Given the description of an element on the screen output the (x, y) to click on. 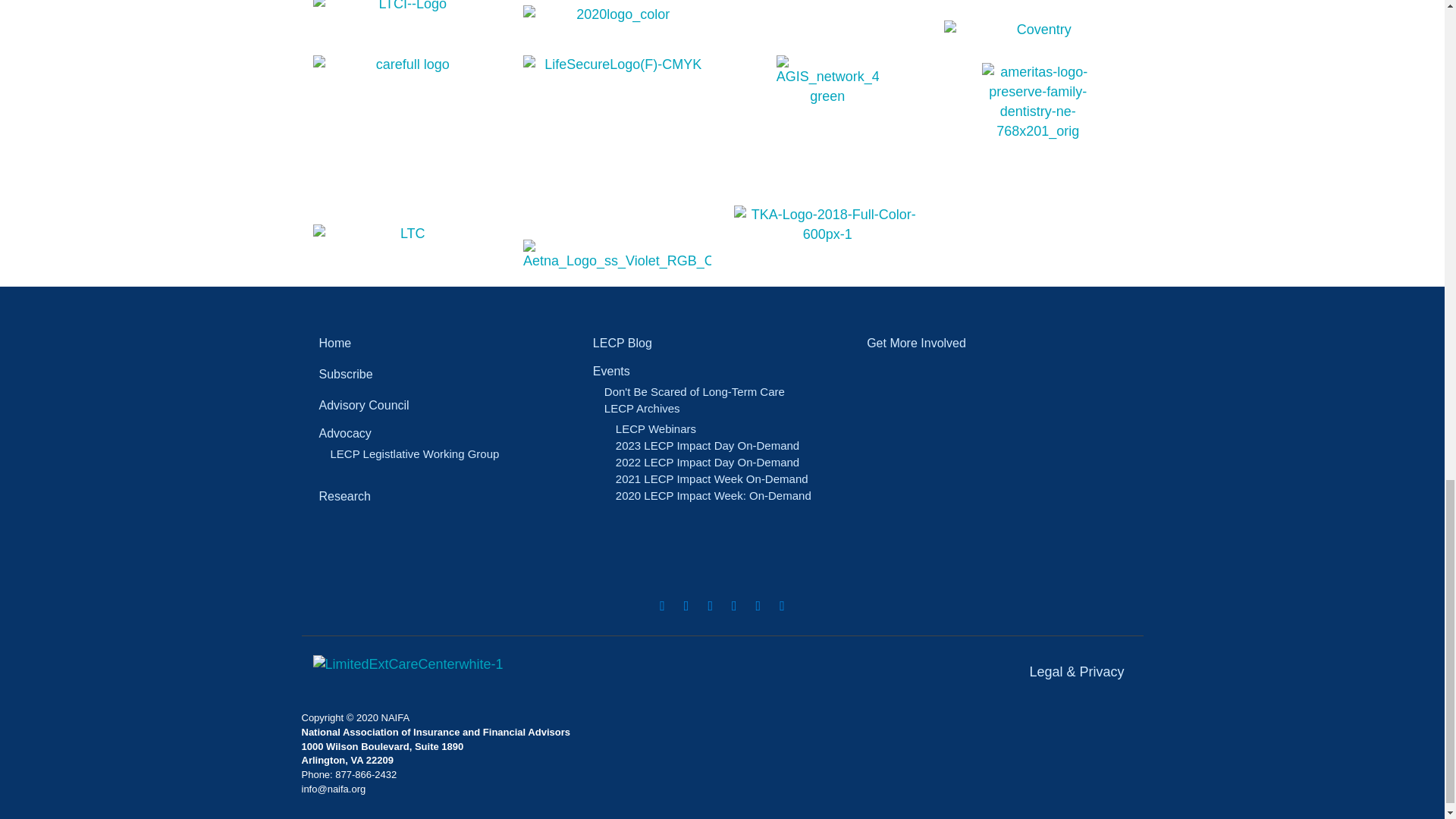
Home (447, 342)
Subscribe (447, 373)
Advisory Council (447, 404)
LimitedExtCareCenterwhite-1 (407, 664)
Advocacy (447, 432)
